Given the description of an element on the screen output the (x, y) to click on. 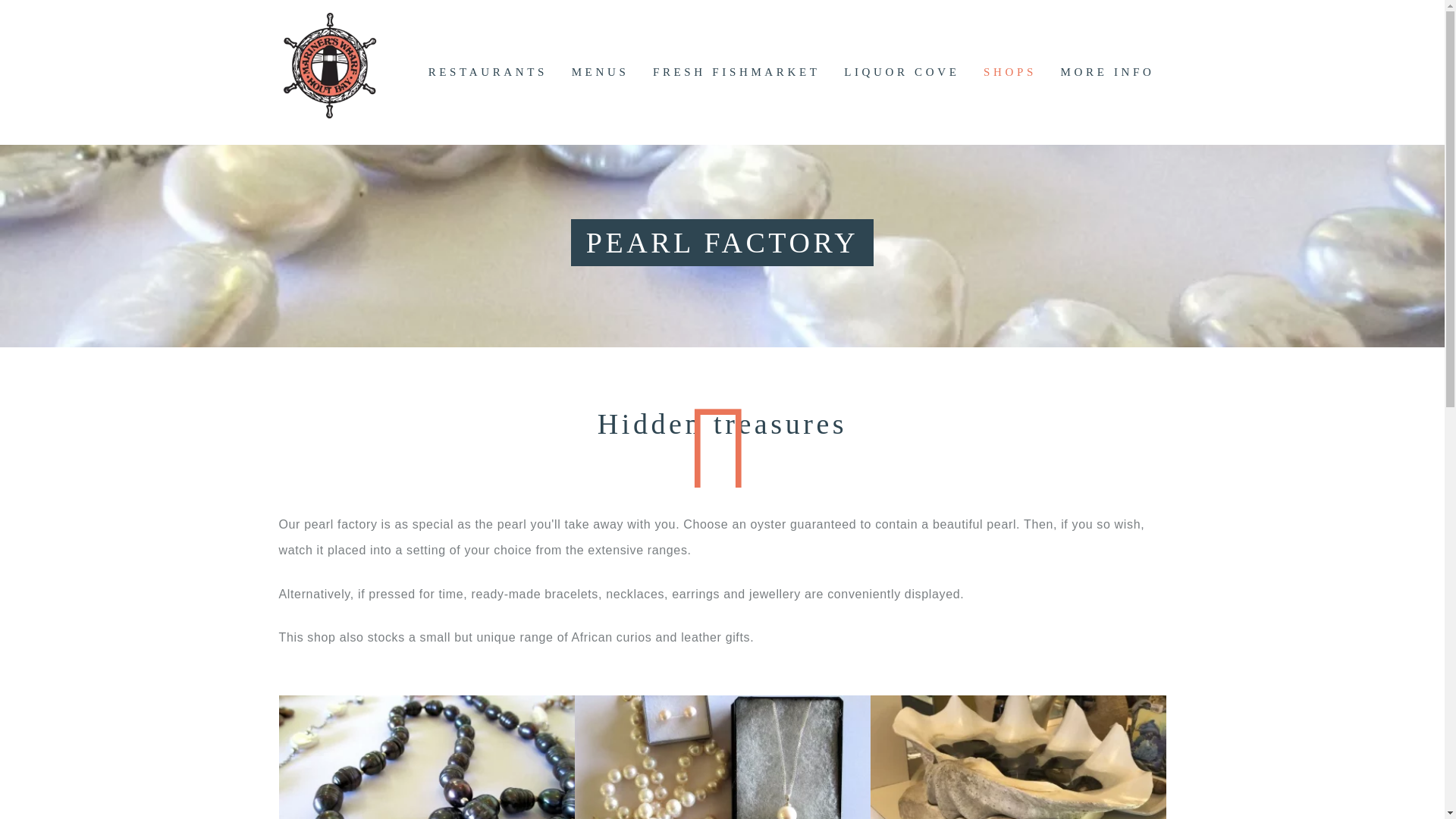
LIQUOR COVE (901, 72)
MORE INFO (1107, 72)
FRESH FISHMARKET (735, 72)
SHOPS (1009, 72)
MENUS (599, 72)
RESTAURANTS (486, 72)
